Given the description of an element on the screen output the (x, y) to click on. 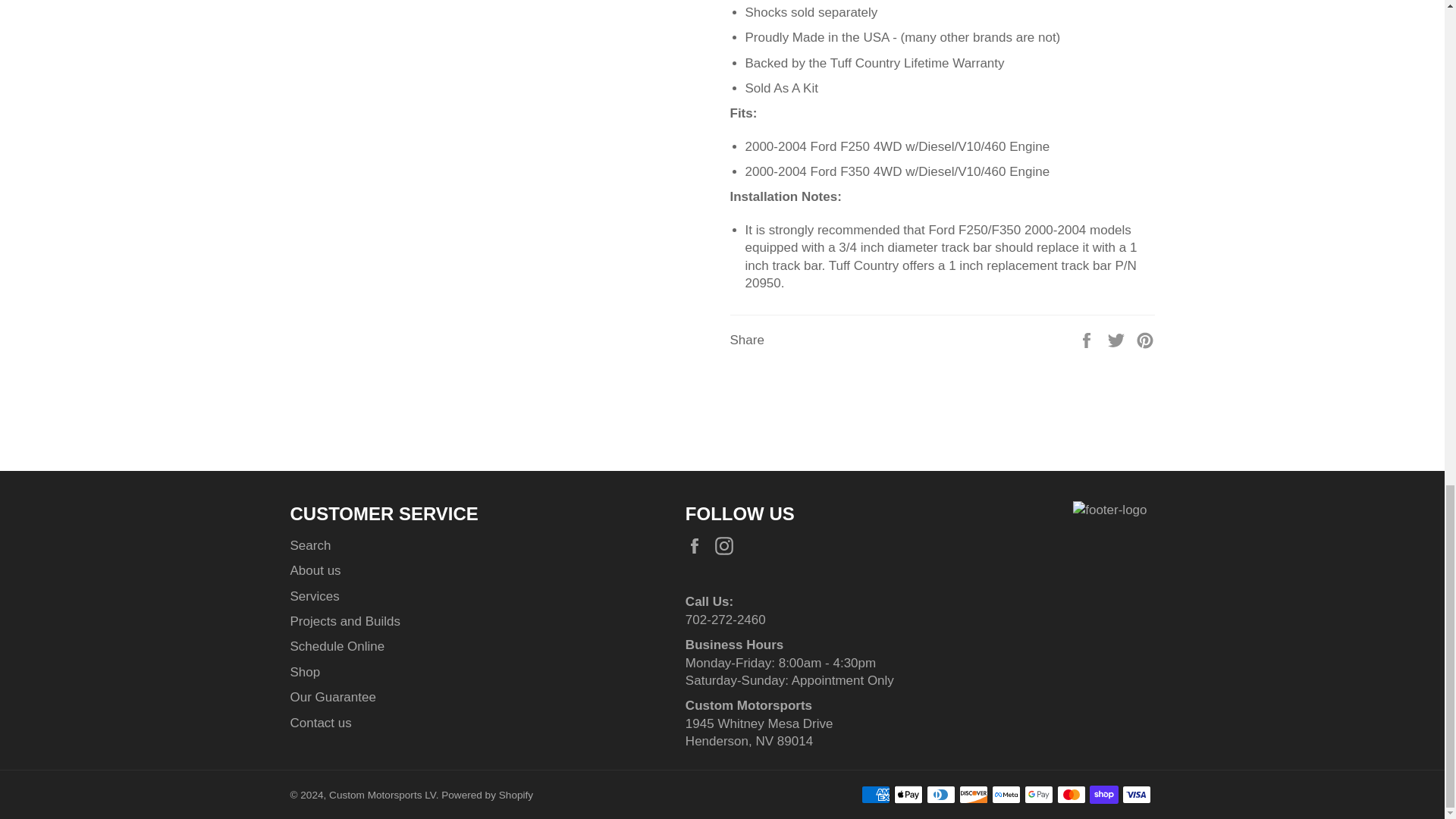
Custom Motorsports LV on Facebook (698, 546)
Pin on Pinterest (1144, 339)
Custom Motorsports LV on Instagram (727, 546)
Tweet on Twitter (1117, 339)
Share on Facebook (1088, 339)
